Given the description of an element on the screen output the (x, y) to click on. 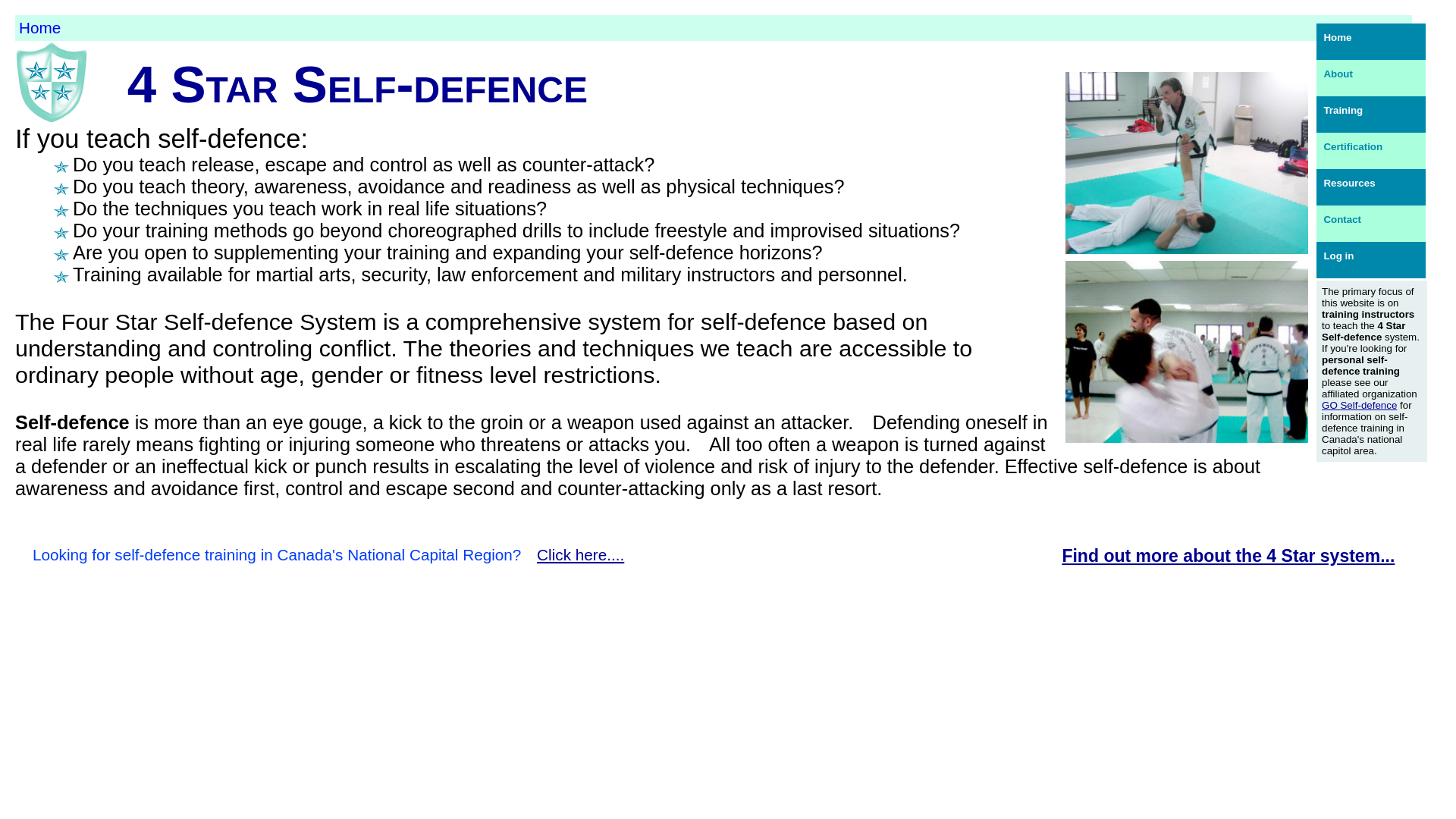
About Element type: text (1370, 77)
4 Star Self-defence Element type: text (357, 83)
Find out more about the 4 Star system... Element type: text (1227, 555)
Home Element type: text (1370, 41)
Log in Element type: text (1370, 259)
Contact Element type: text (1370, 223)
Certification Element type: text (1370, 150)
Training Element type: text (1370, 114)
GO Self-defence Element type: text (1358, 405)
Resources Element type: text (1370, 187)
Click here.... Element type: text (580, 554)
